Given the description of an element on the screen output the (x, y) to click on. 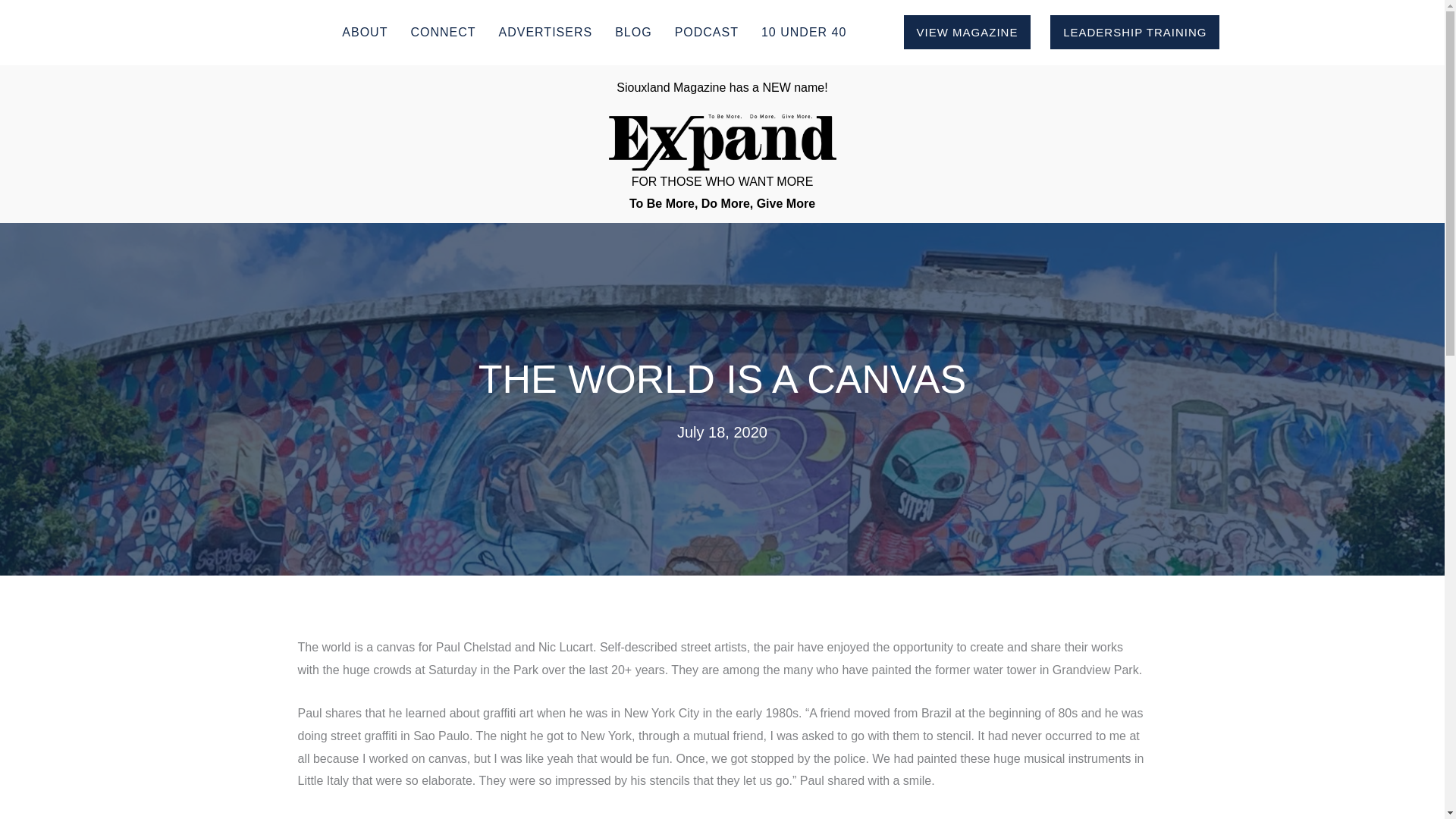
PODCAST (705, 31)
BLOG (633, 31)
LEADERSHIP TRAINING (1134, 32)
Expand logo - resize (721, 142)
10 UNDER 40 (803, 31)
VIEW MAGAZINE (967, 32)
CONNECT (443, 31)
ADVERTISERS (545, 31)
ABOUT (364, 31)
